Given the description of an element on the screen output the (x, y) to click on. 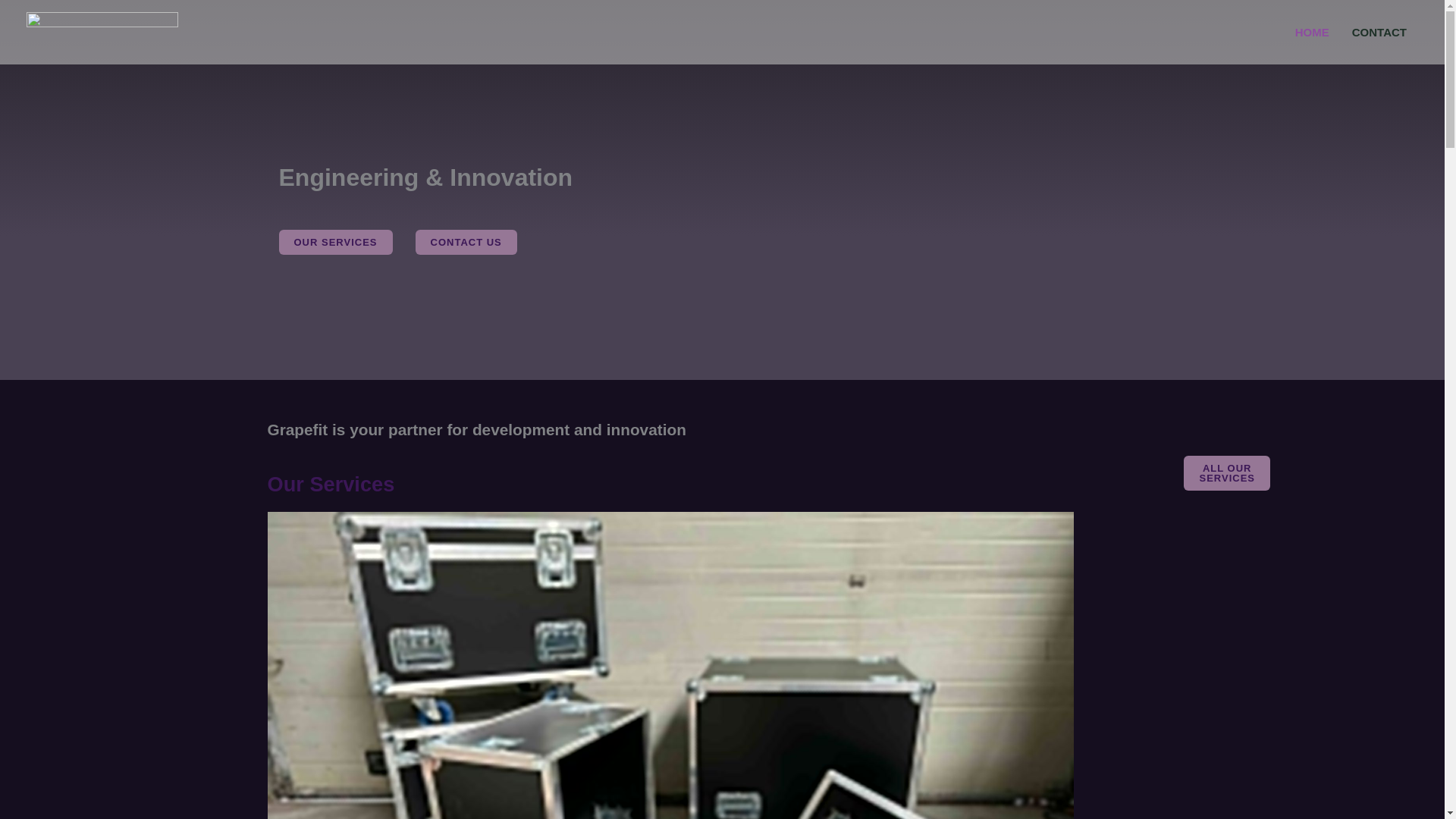
OUR SERVICES (336, 242)
CONTACT (1379, 31)
HOME (1312, 31)
CONTACT US (465, 242)
ALL OUR SERVICES (1226, 472)
